Given the description of an element on the screen output the (x, y) to click on. 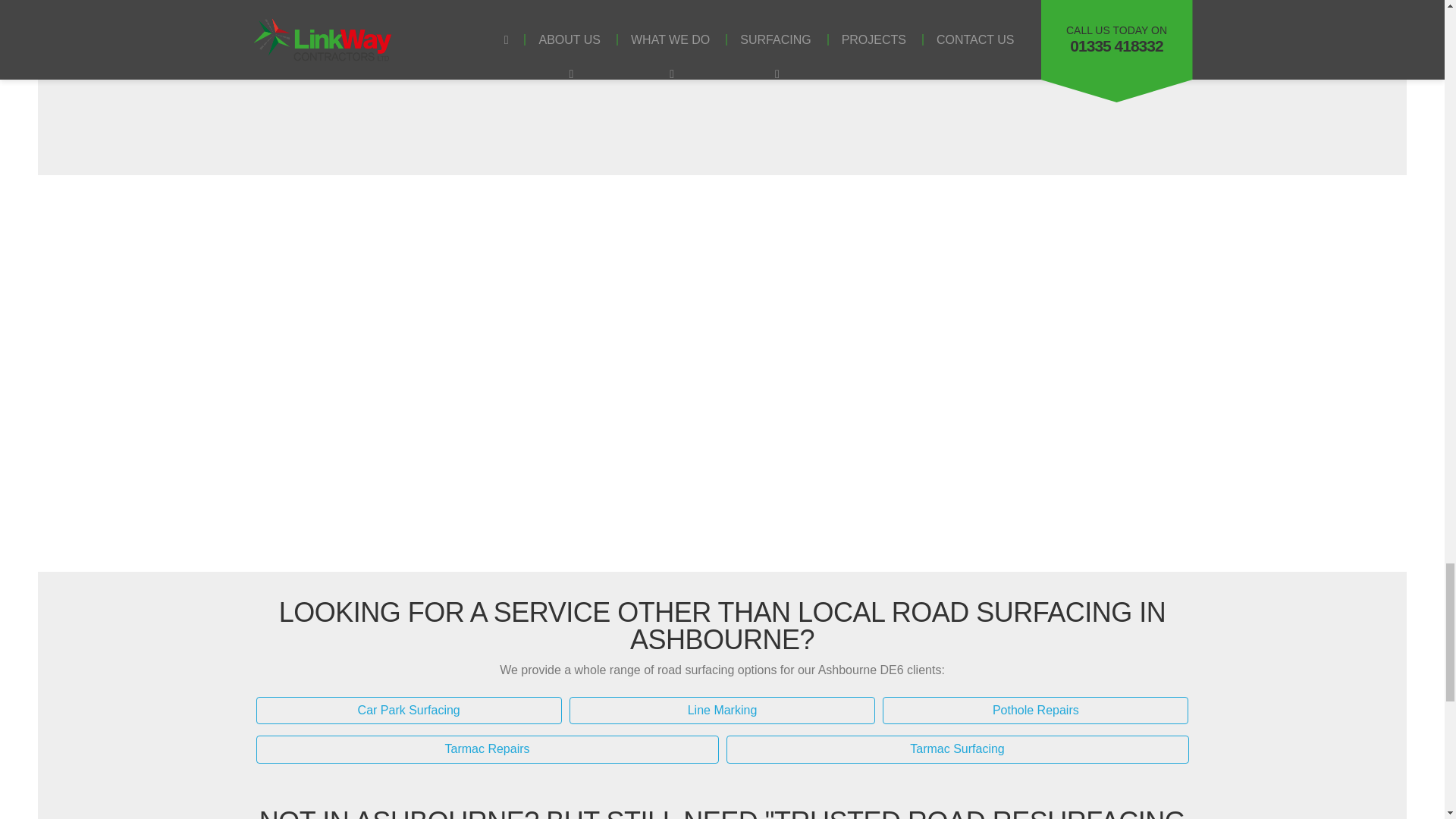
Line Marking (722, 710)
Car Park Surfacing (409, 710)
